Given the description of an element on the screen output the (x, y) to click on. 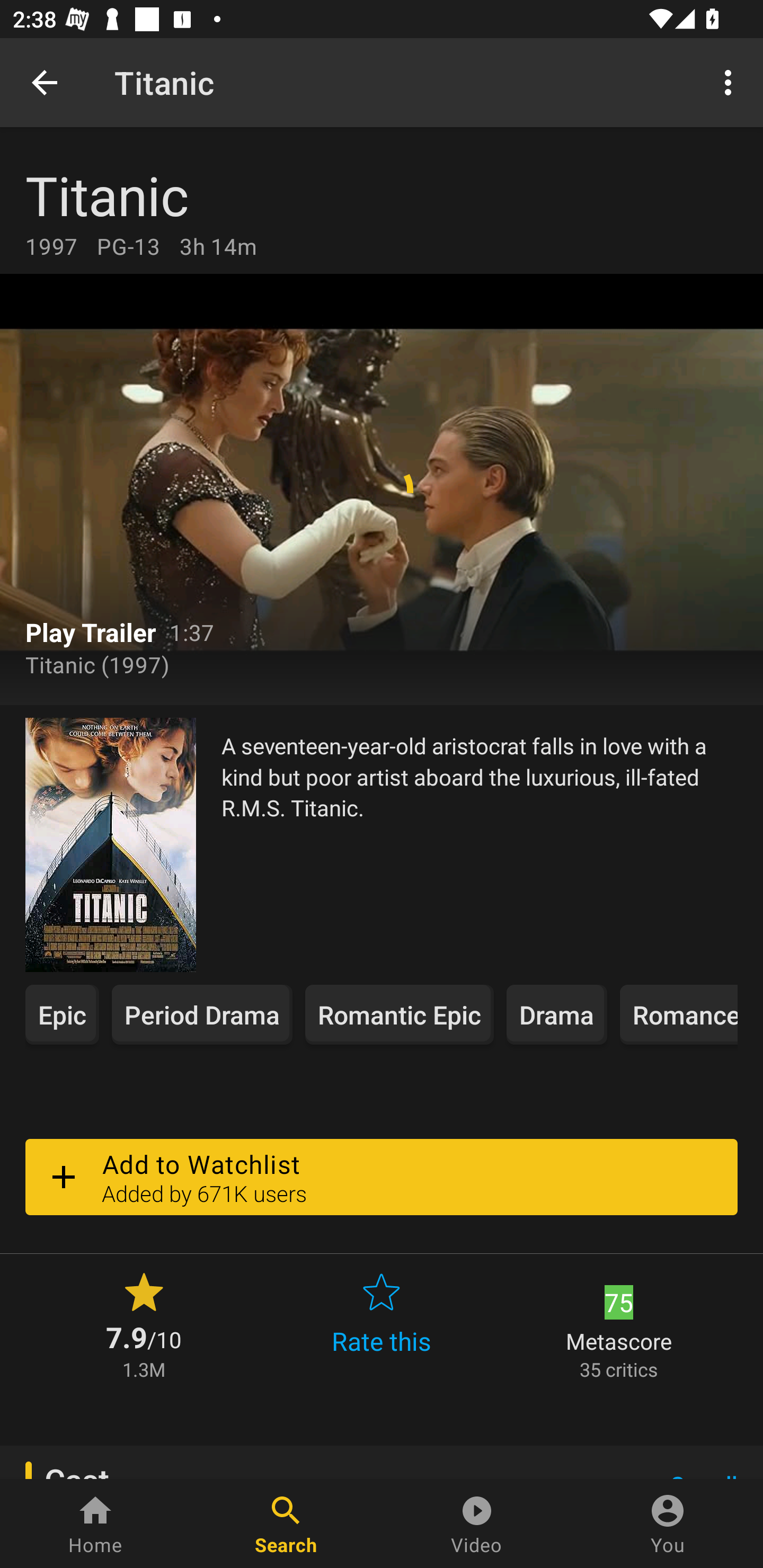
More options (731, 81)
Epic (62, 1014)
Period Drama (202, 1014)
Romantic Epic (399, 1014)
Drama (556, 1014)
Romance (678, 1014)
Add to Watchlist Added by 671K users (381, 1176)
7.9 /10 1.3M (143, 1323)
Rate this (381, 1323)
75 Metascore 35 critics (618, 1323)
Home (95, 1523)
Video (476, 1523)
You (667, 1523)
